Given the description of an element on the screen output the (x, y) to click on. 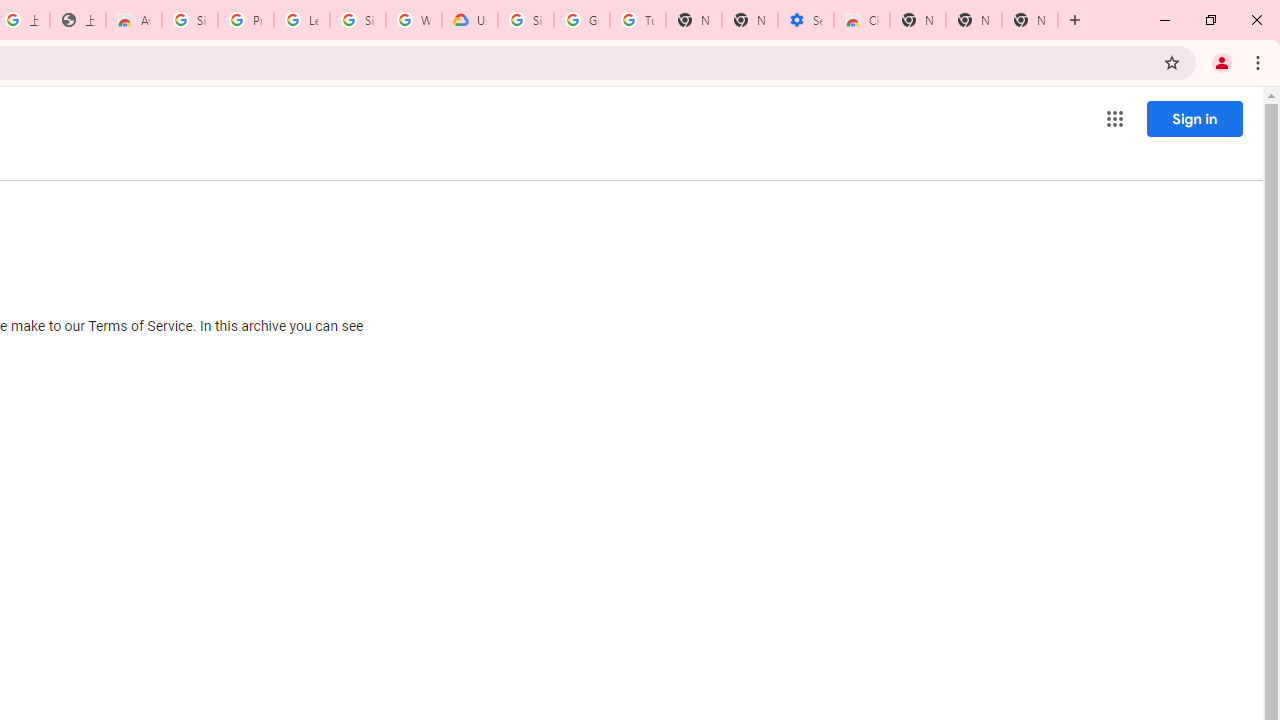
Awesome Screen Recorder & Screenshot - Chrome Web Store (134, 20)
Sign in - Google Accounts (189, 20)
Turn cookies on or off - Computer - Google Account Help (637, 20)
Sign in - Google Accounts (525, 20)
Who are Google's partners? - Privacy and conditions - Google (413, 20)
New Tab (1030, 20)
Chrome Web Store - Accessibility extensions (861, 20)
